Given the description of an element on the screen output the (x, y) to click on. 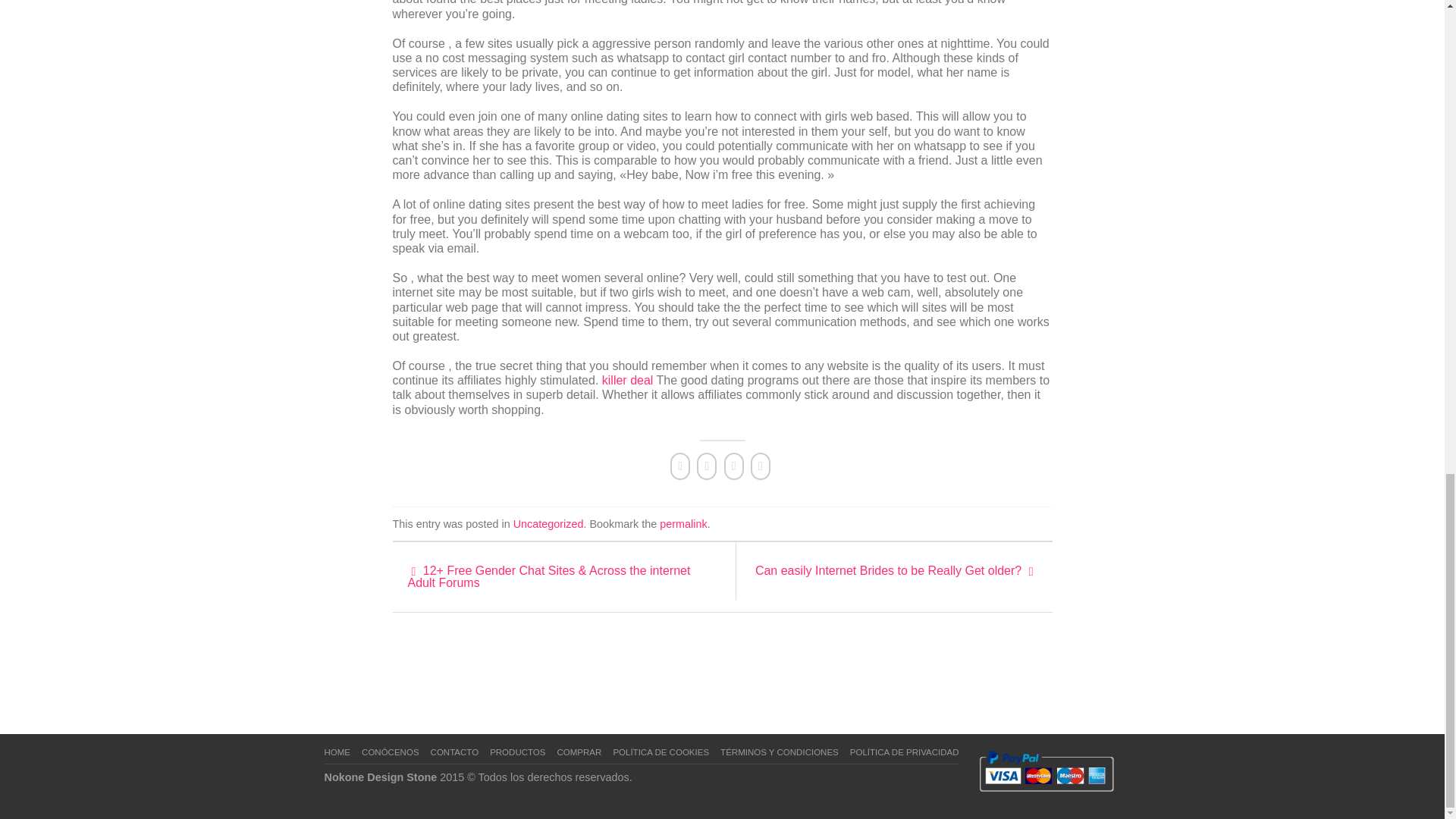
Uncategorized (548, 523)
permalink (682, 523)
killer deal (627, 379)
